Given the description of an element on the screen output the (x, y) to click on. 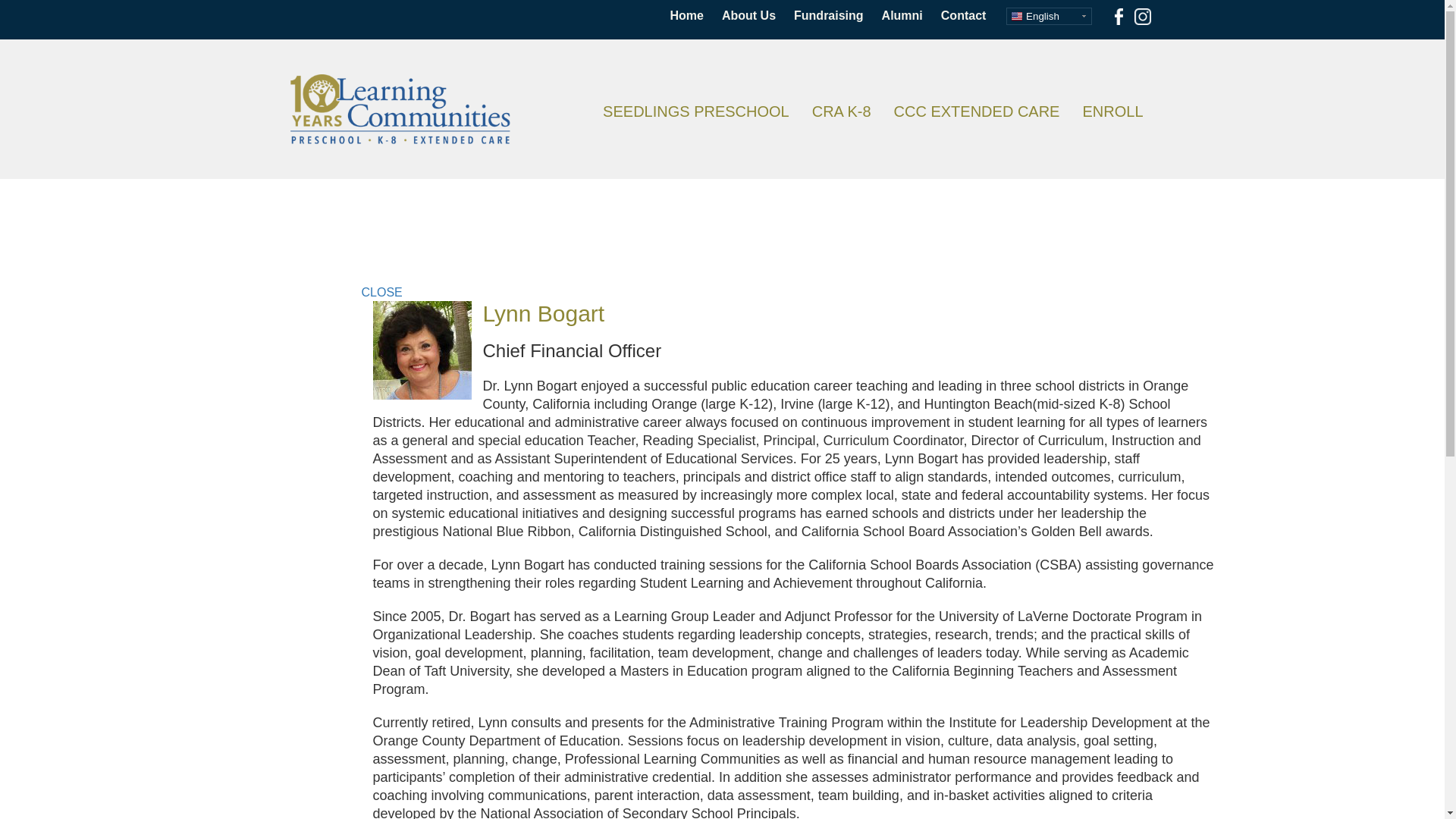
About Us (748, 15)
Fundraising (828, 15)
Learning Communities (400, 109)
Alumni (901, 15)
Close this window (381, 291)
Home (686, 15)
CRA Alumni Association (901, 15)
CRA K-8 (841, 111)
Contact (963, 15)
SEEDLINGS PRESCHOOL (695, 111)
English (1049, 16)
